Given the description of an element on the screen output the (x, y) to click on. 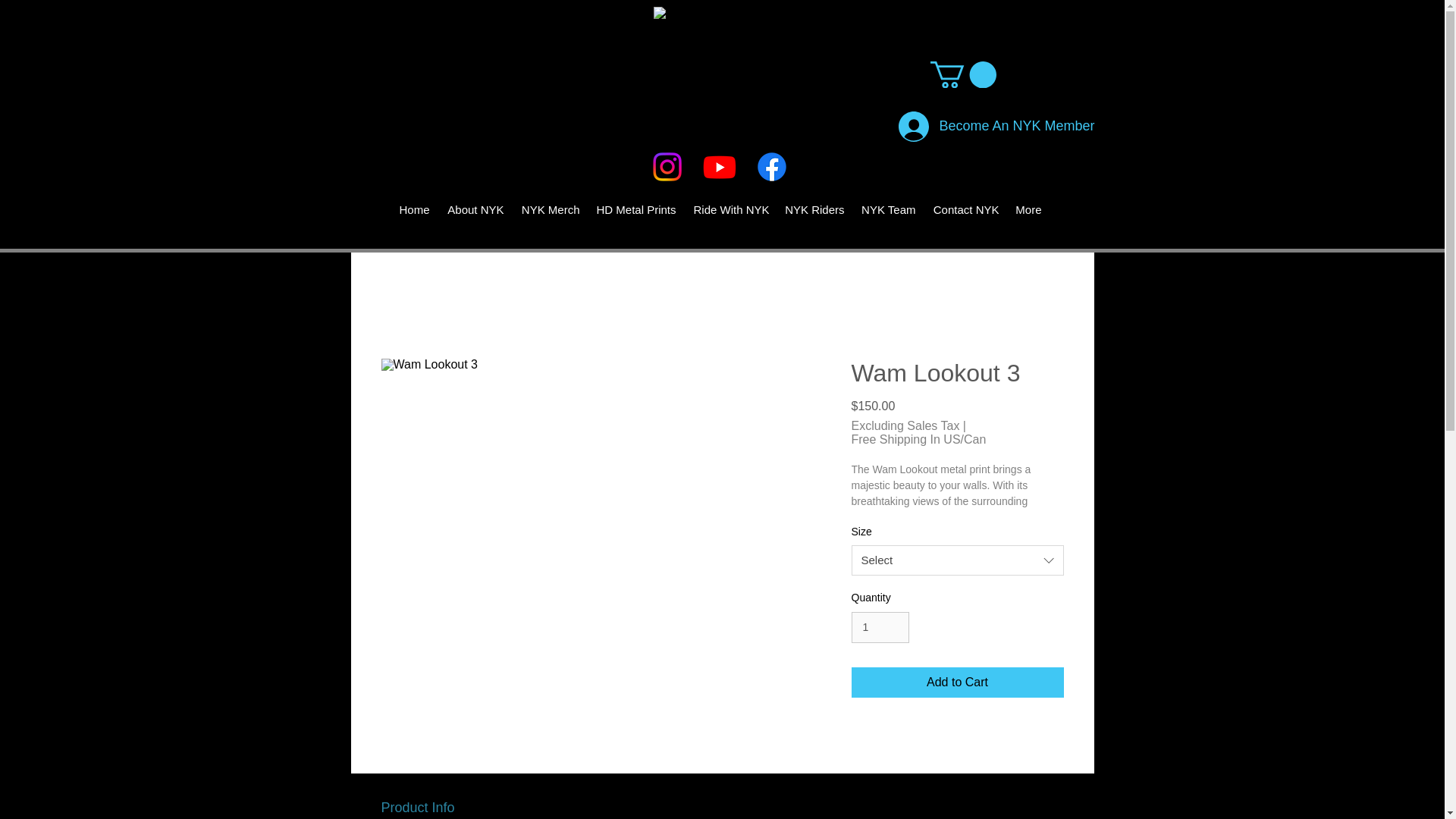
1 (879, 626)
HD Metal Prints (634, 209)
About NYK (473, 209)
Ride With NYK (730, 209)
Home (414, 209)
NYK Merch (548, 209)
Become An NYK Member (962, 126)
NYK Riders (813, 209)
NYK Team (887, 209)
Select (956, 560)
Contact NYK (965, 209)
Add to Cart (956, 682)
